Given the description of an element on the screen output the (x, y) to click on. 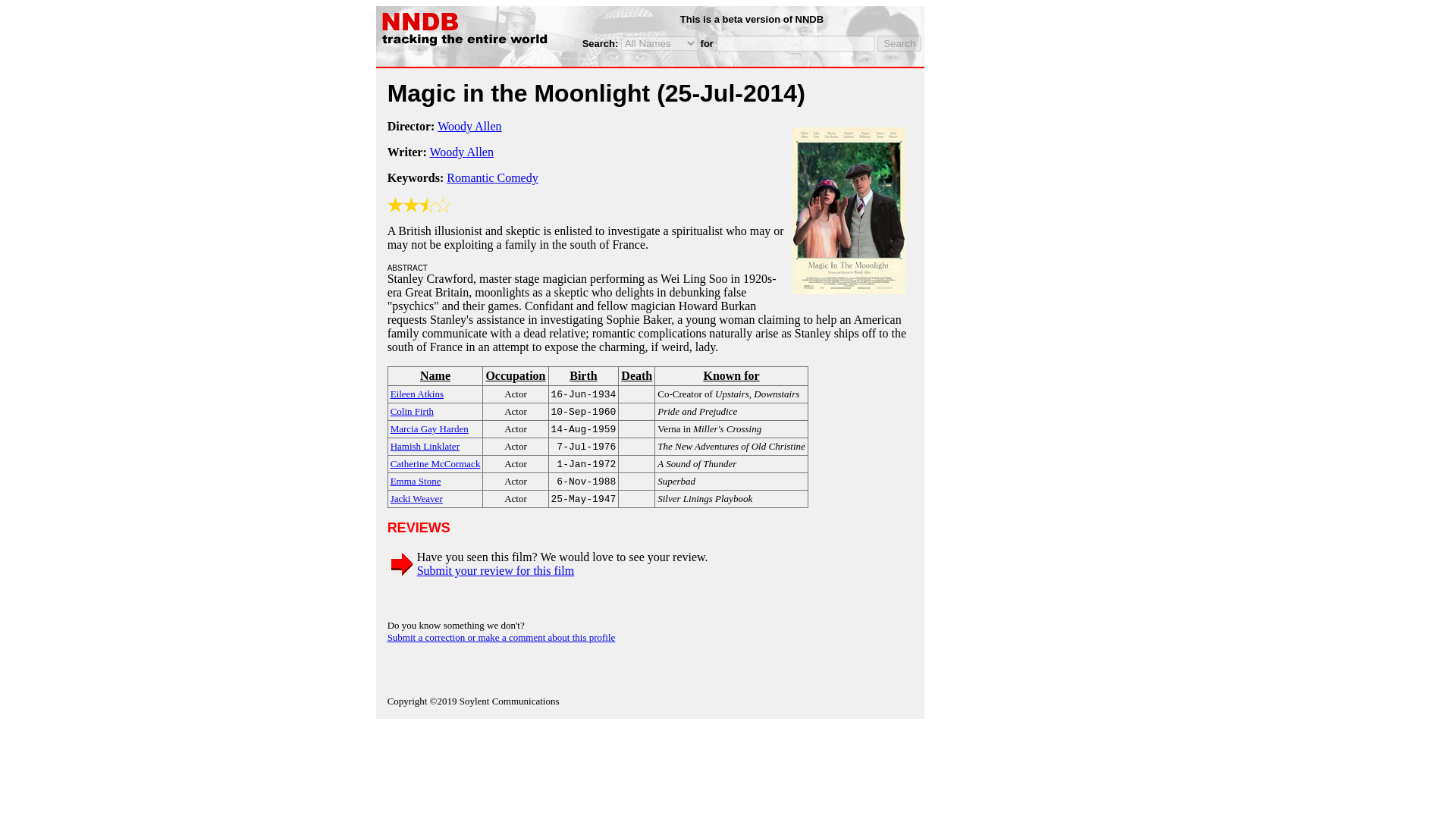
Emma Stone (415, 480)
Hamish Linklater (425, 445)
Catherine McCormack (435, 462)
Birth (583, 376)
Known for (731, 376)
Search (899, 43)
Marcia Gay Harden (429, 427)
Woody Allen (469, 125)
Submit your review for this film (495, 570)
Name (435, 376)
Submit a correction or make a comment about this profile (501, 636)
Romantic Comedy (491, 177)
Death (636, 376)
Eileen Atkins (417, 392)
Woody Allen (461, 151)
